Given the description of an element on the screen output the (x, y) to click on. 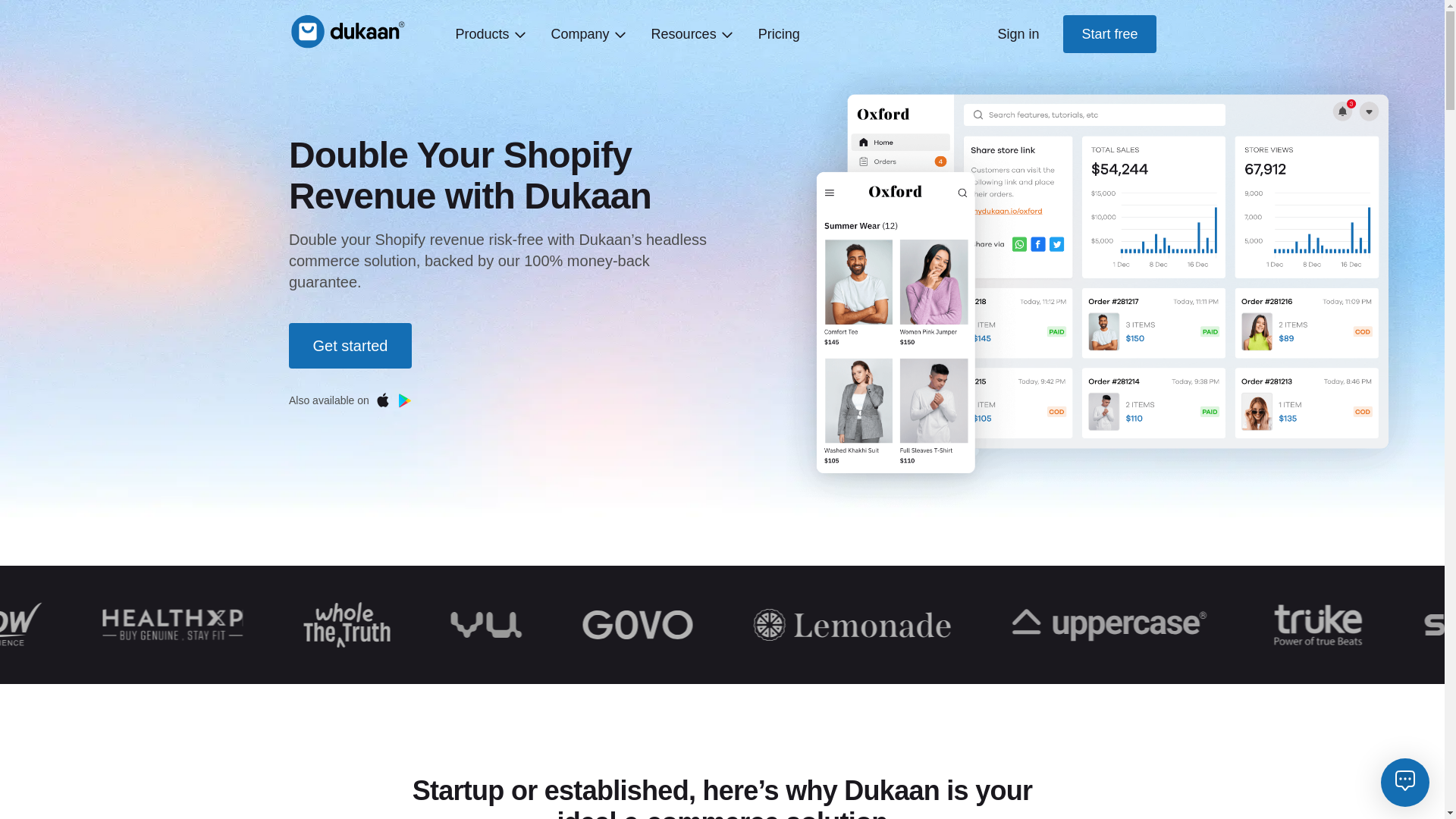
Get started (350, 345)
Start free (1109, 34)
Sign in (1018, 33)
